Given the description of an element on the screen output the (x, y) to click on. 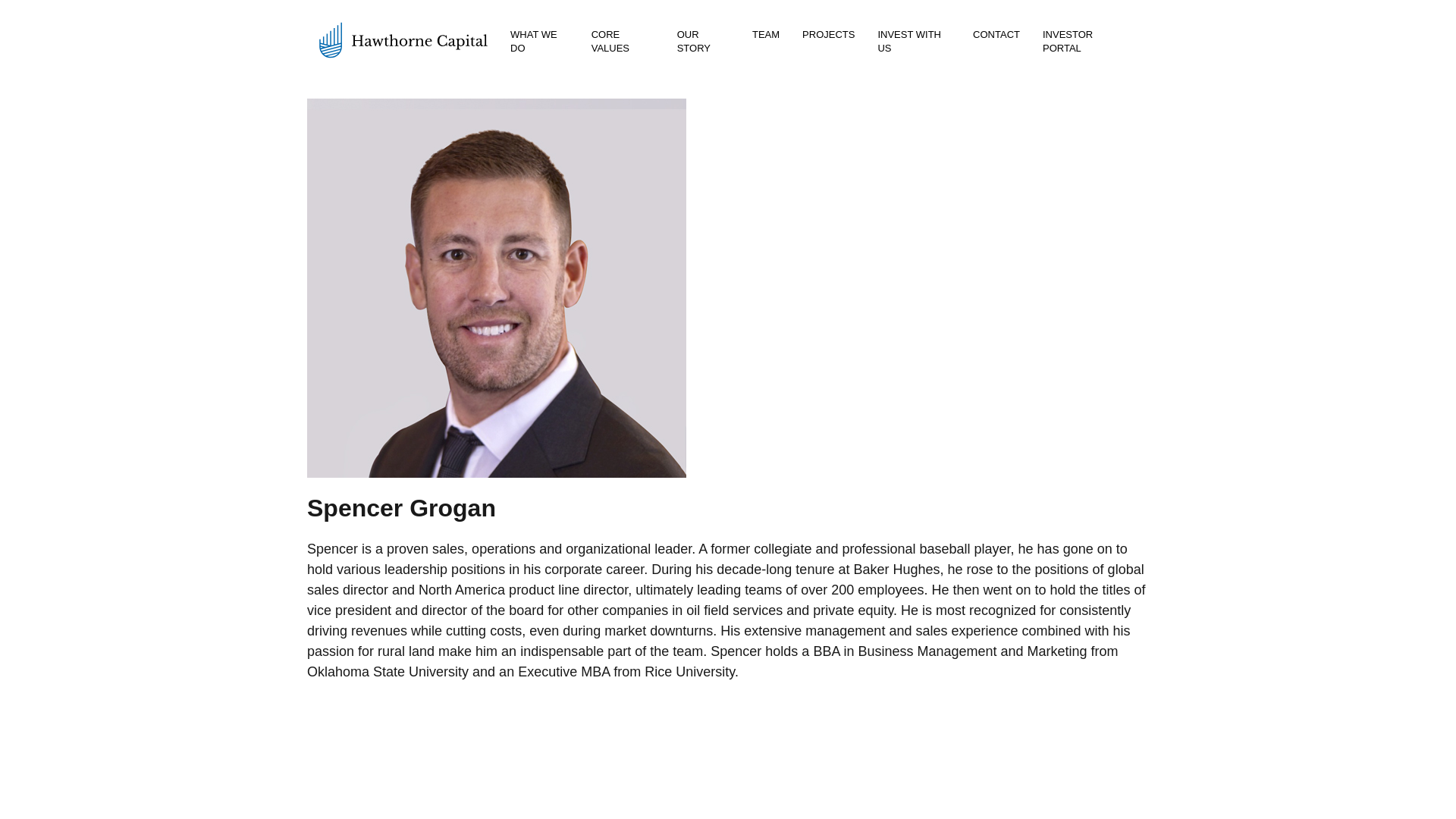
TEAM (777, 34)
CONTACT (1007, 34)
INVEST WITH US (908, 41)
OUR STORY (705, 41)
PROJECTS (839, 34)
CORE VALUES (621, 41)
Hawthorne Capital Logo (402, 39)
WHAT WE DO (534, 41)
INVESTOR PORTAL (1072, 41)
